Given the description of an element on the screen output the (x, y) to click on. 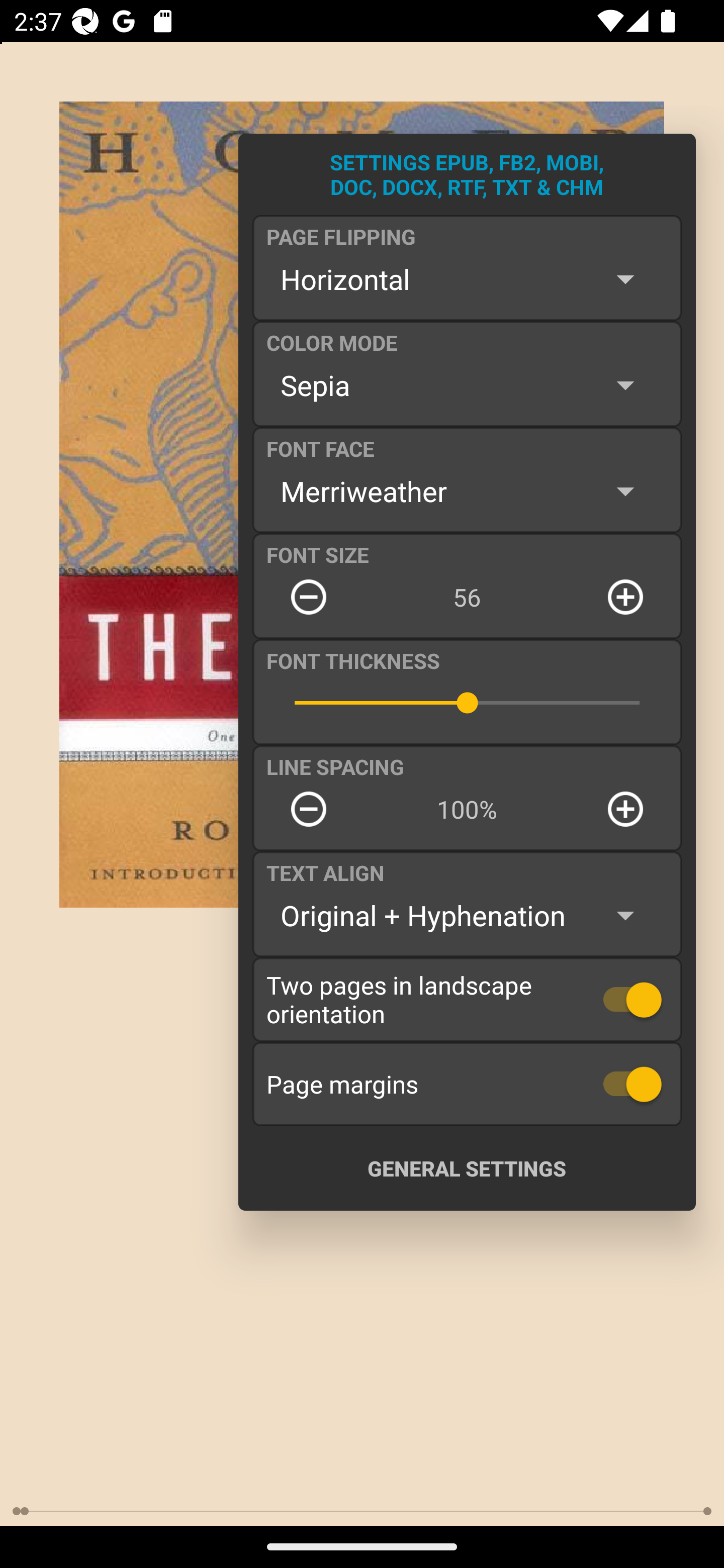
Horizontal (466, 278)
Sepia (466, 384)
Merriweather (466, 490)
Original + Hyphenation (466, 915)
Two pages in landscape orientation (467, 999)
Page margins (467, 1083)
GENERAL SETTINGS (466, 1167)
